Given the description of an element on the screen output the (x, y) to click on. 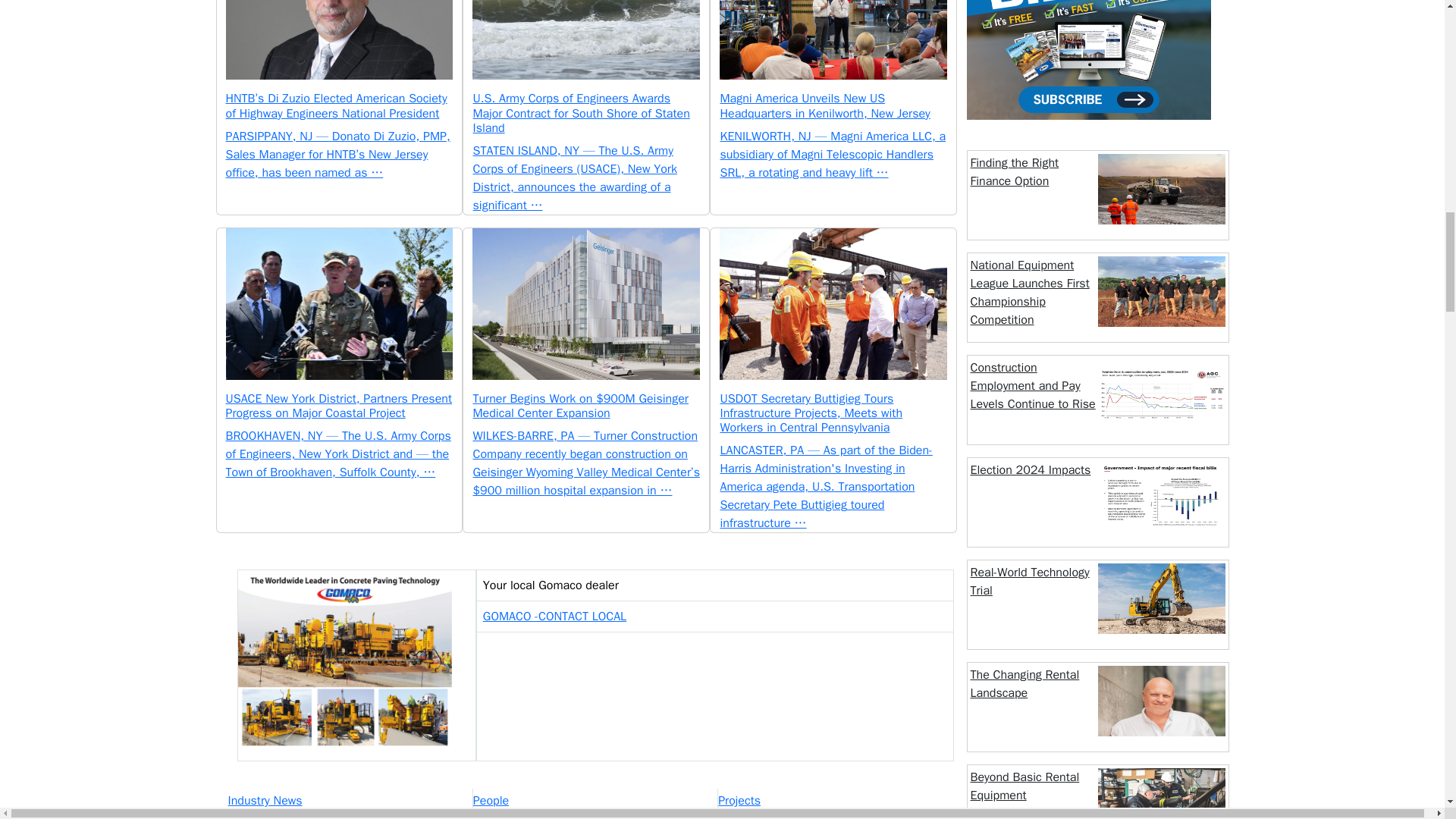
Industry News (349, 800)
GOMACO -CONTACT LOCAL (554, 616)
